Given the description of an element on the screen output the (x, y) to click on. 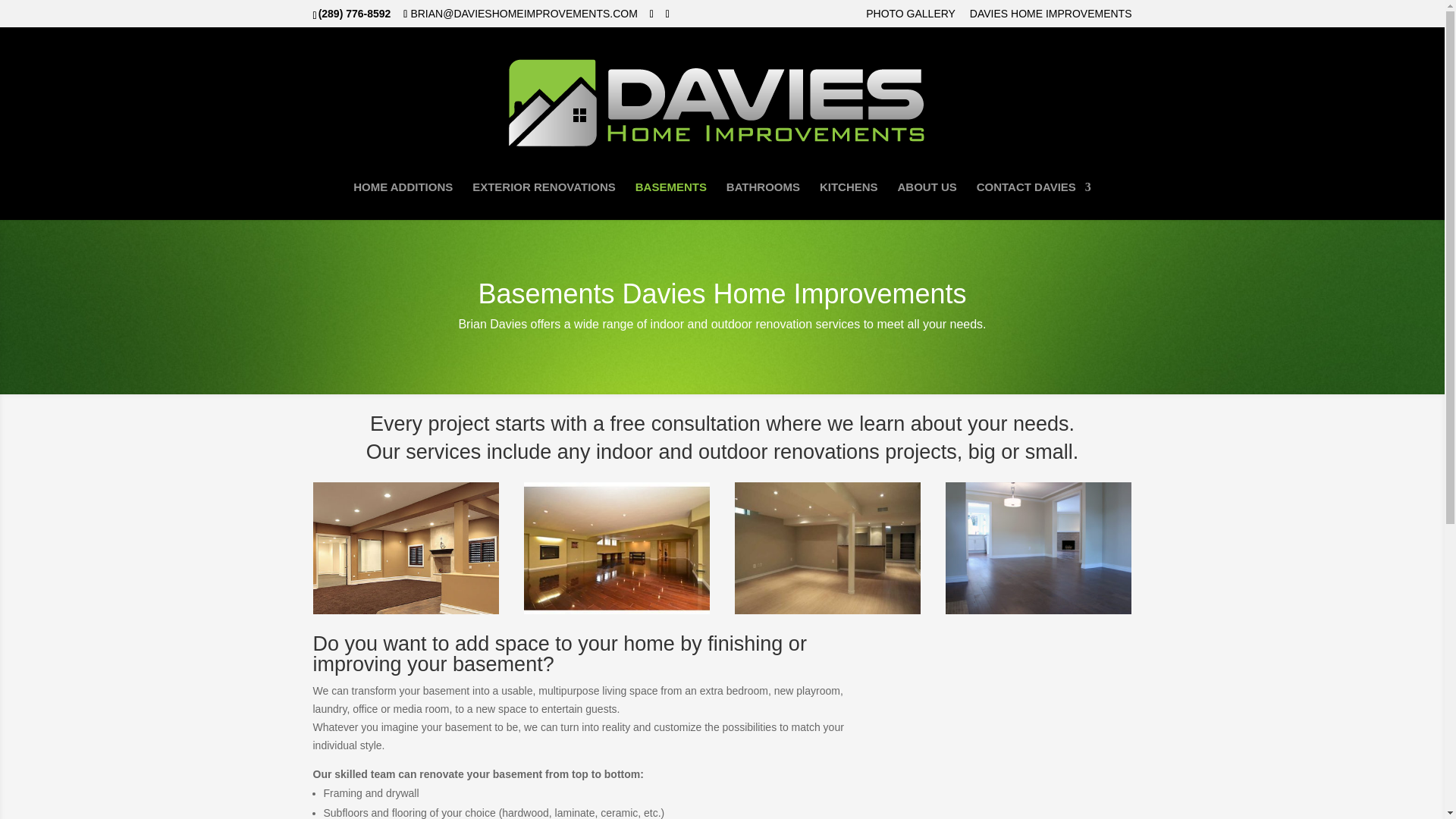
KITCHENS (848, 200)
PHOTO GALLERY (910, 16)
BASEMENTS (670, 200)
CONTACT DAVIES (1033, 200)
basements3 Davies Home Improvements (617, 610)
basement5 Davies Home Improvements (406, 610)
HOME ADDITIONS (402, 200)
ABOUT US (926, 200)
basement Davies Home Improvements (1038, 610)
Basement Davies Home Improvements (828, 610)
